Given the description of an element on the screen output the (x, y) to click on. 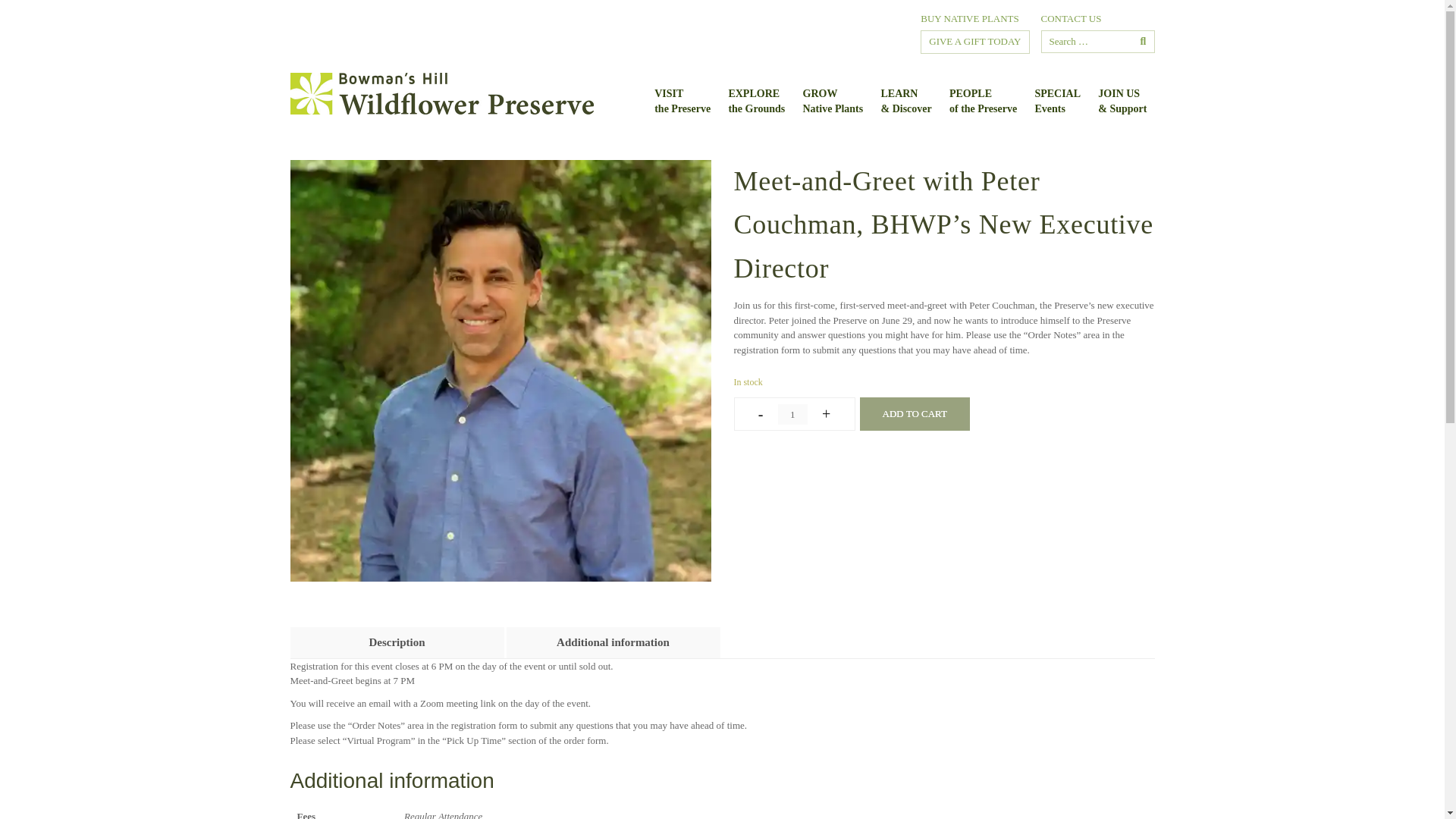
1 (792, 414)
Peter Couchman (499, 369)
